Given the description of an element on the screen output the (x, y) to click on. 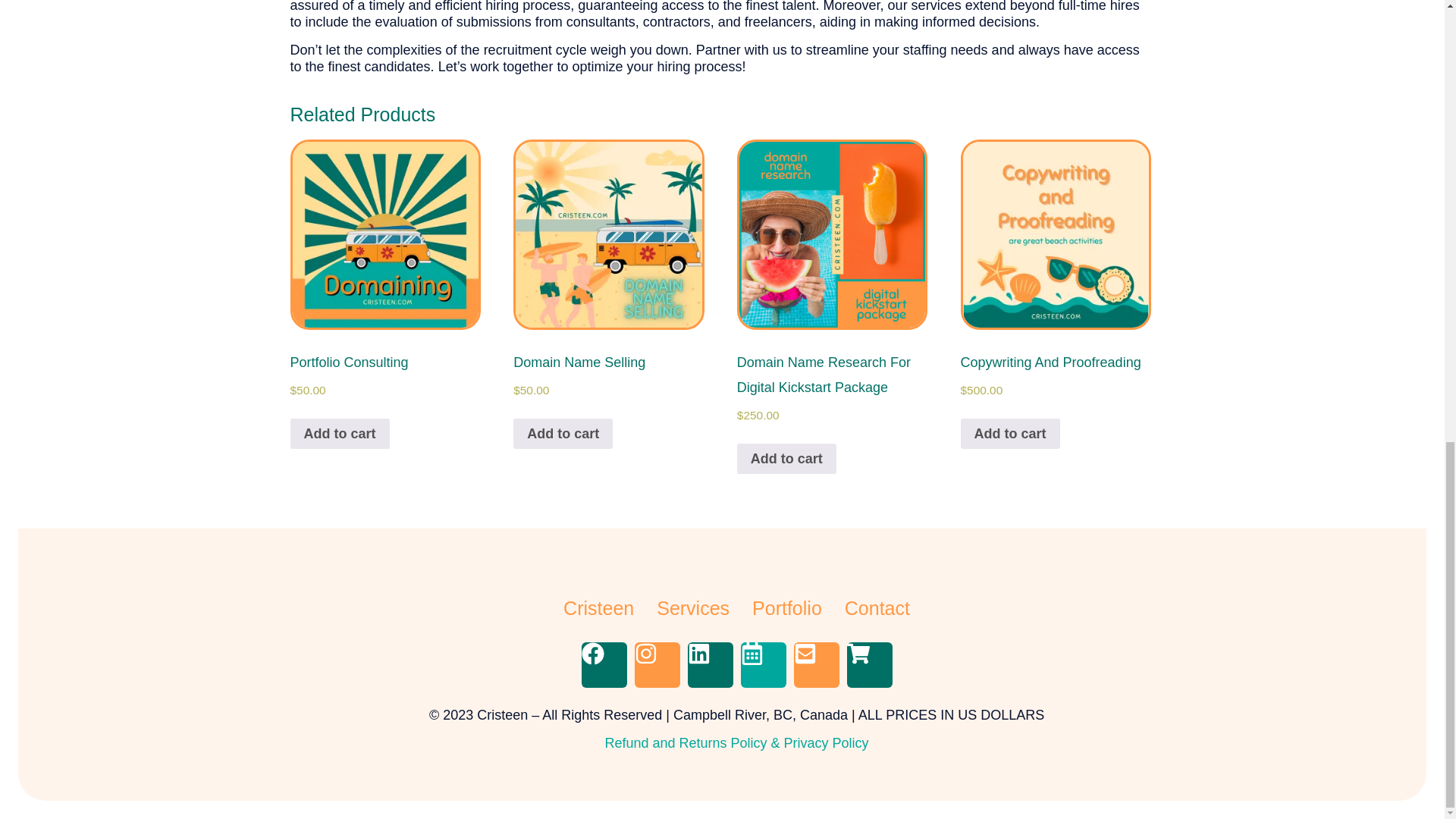
Add to cart (1009, 433)
Services (692, 607)
Portfolio (787, 607)
Add to cart (785, 458)
Cristeen (598, 607)
Add to cart (562, 433)
Contact (877, 607)
Add to cart (338, 433)
